Given the description of an element on the screen output the (x, y) to click on. 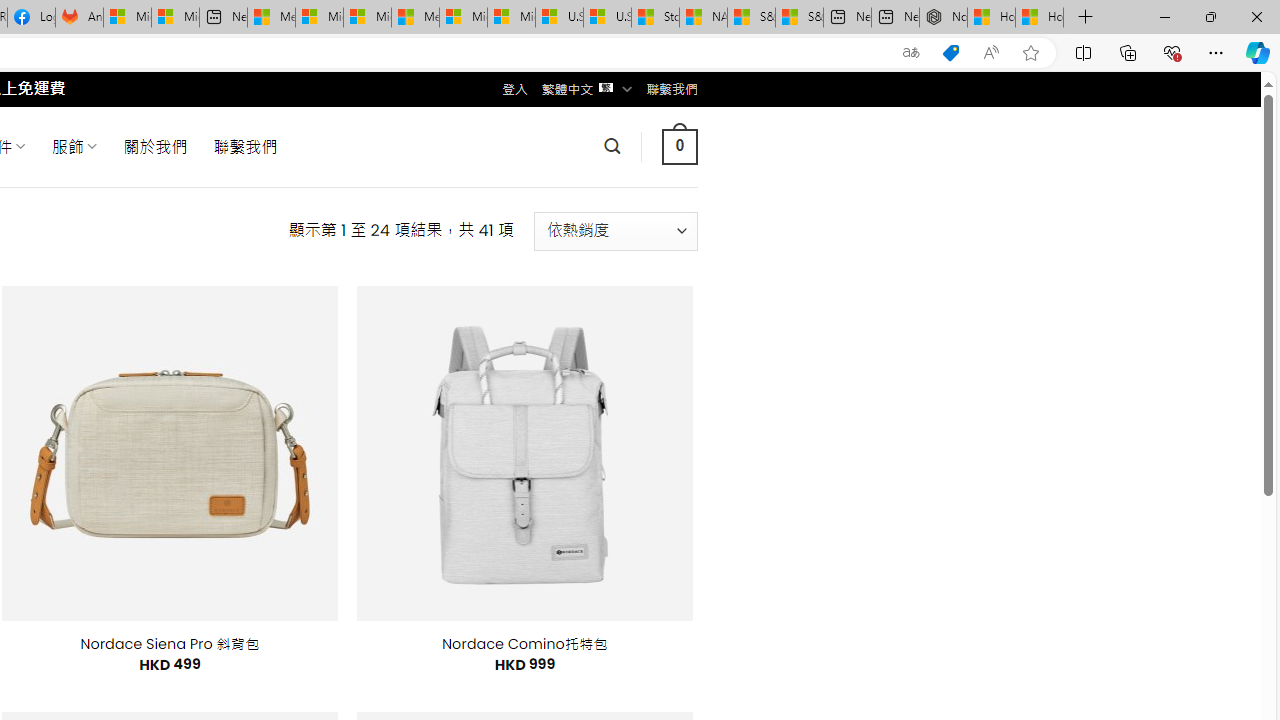
This site has coupons! Shopping in Microsoft Edge (950, 53)
Settings and more (Alt+F) (1215, 52)
Collections (1128, 52)
Minimize (1164, 16)
How to Use a Monitor With Your Closed Laptop (1039, 17)
Add this page to favorites (Ctrl+D) (1030, 53)
New Tab (1085, 17)
